Given the description of an element on the screen output the (x, y) to click on. 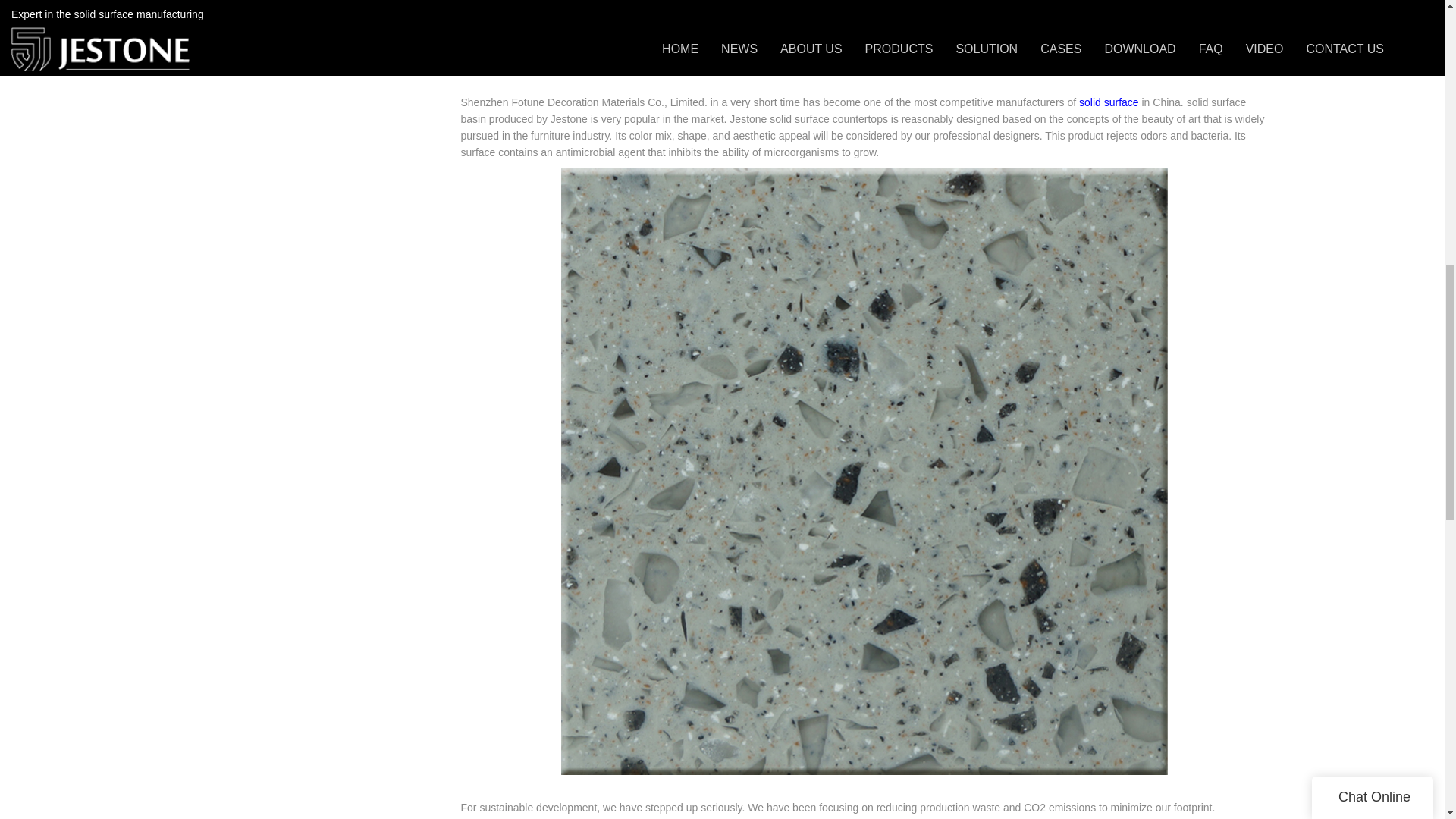
solid surface (1108, 102)
